Given the description of an element on the screen output the (x, y) to click on. 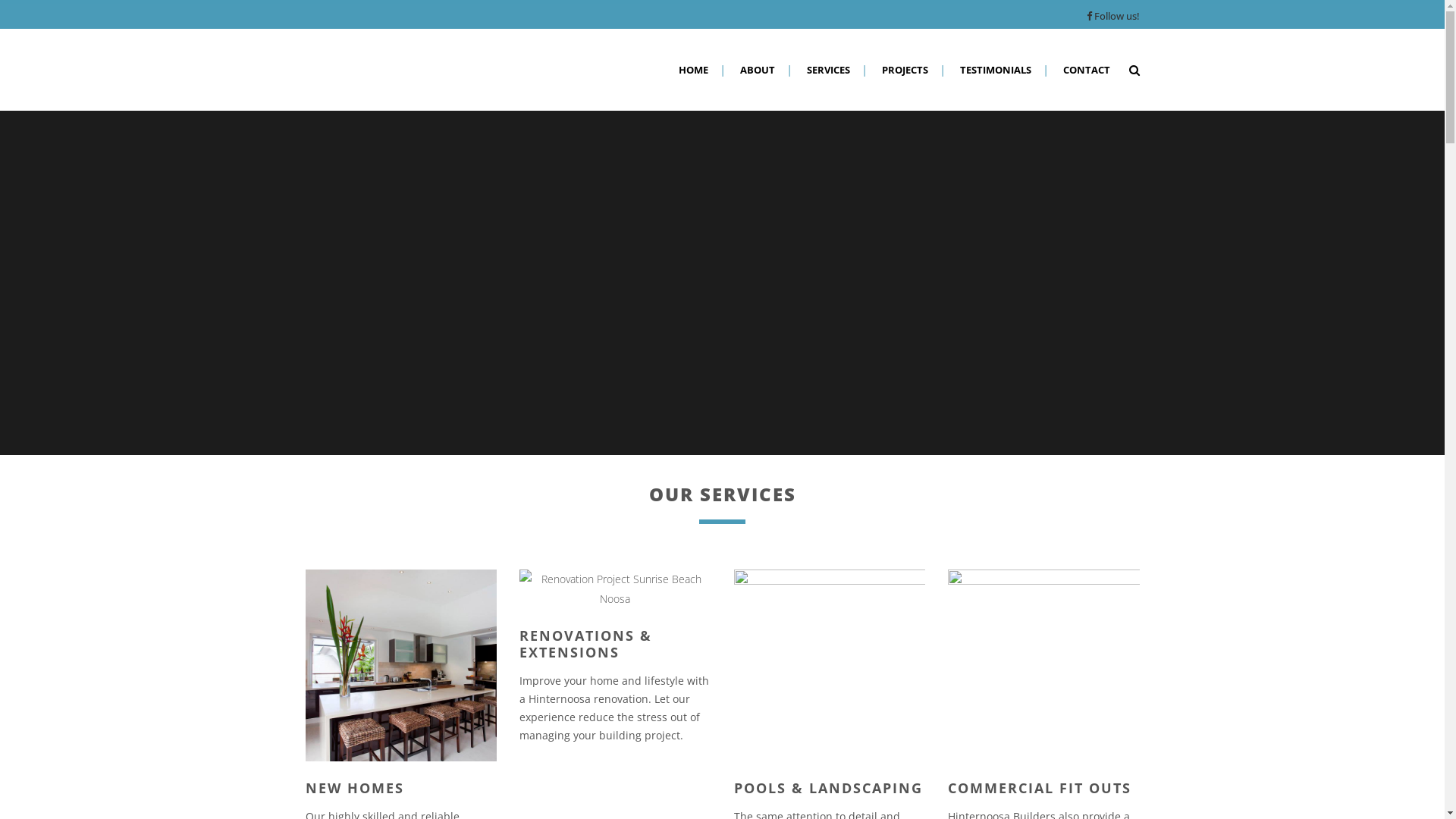
Follow us! Element type: text (1115, 15)
HOME Element type: text (693, 69)
SERVICES Element type: text (827, 69)
CONTACT Element type: text (1085, 69)
PROJECTS Element type: text (905, 69)
TESTIMONIALS Element type: text (994, 69)
ABOUT Element type: text (756, 69)
